Given the description of an element on the screen output the (x, y) to click on. 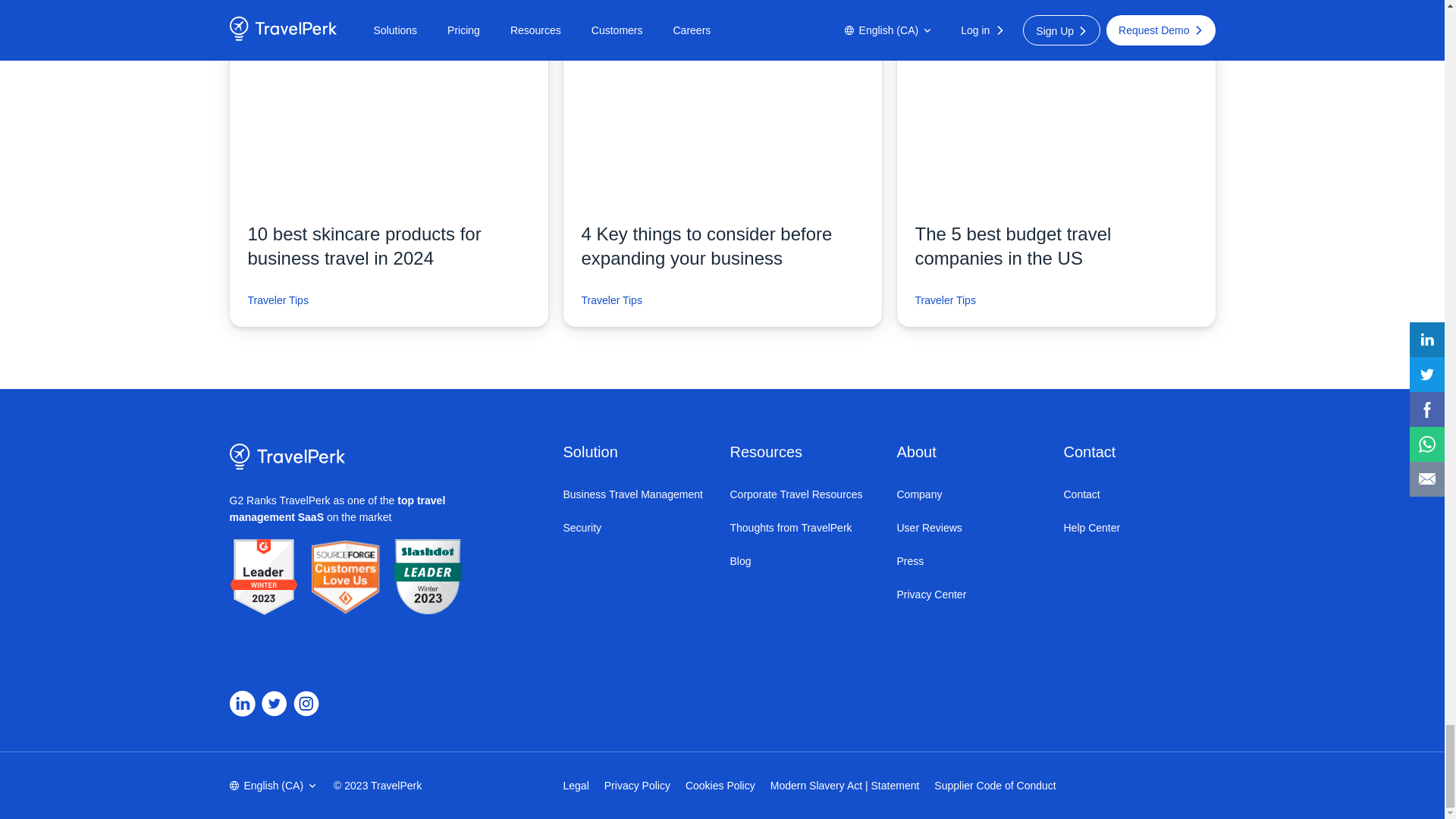
TravelPerk Logo (286, 456)
